Given the description of an element on the screen output the (x, y) to click on. 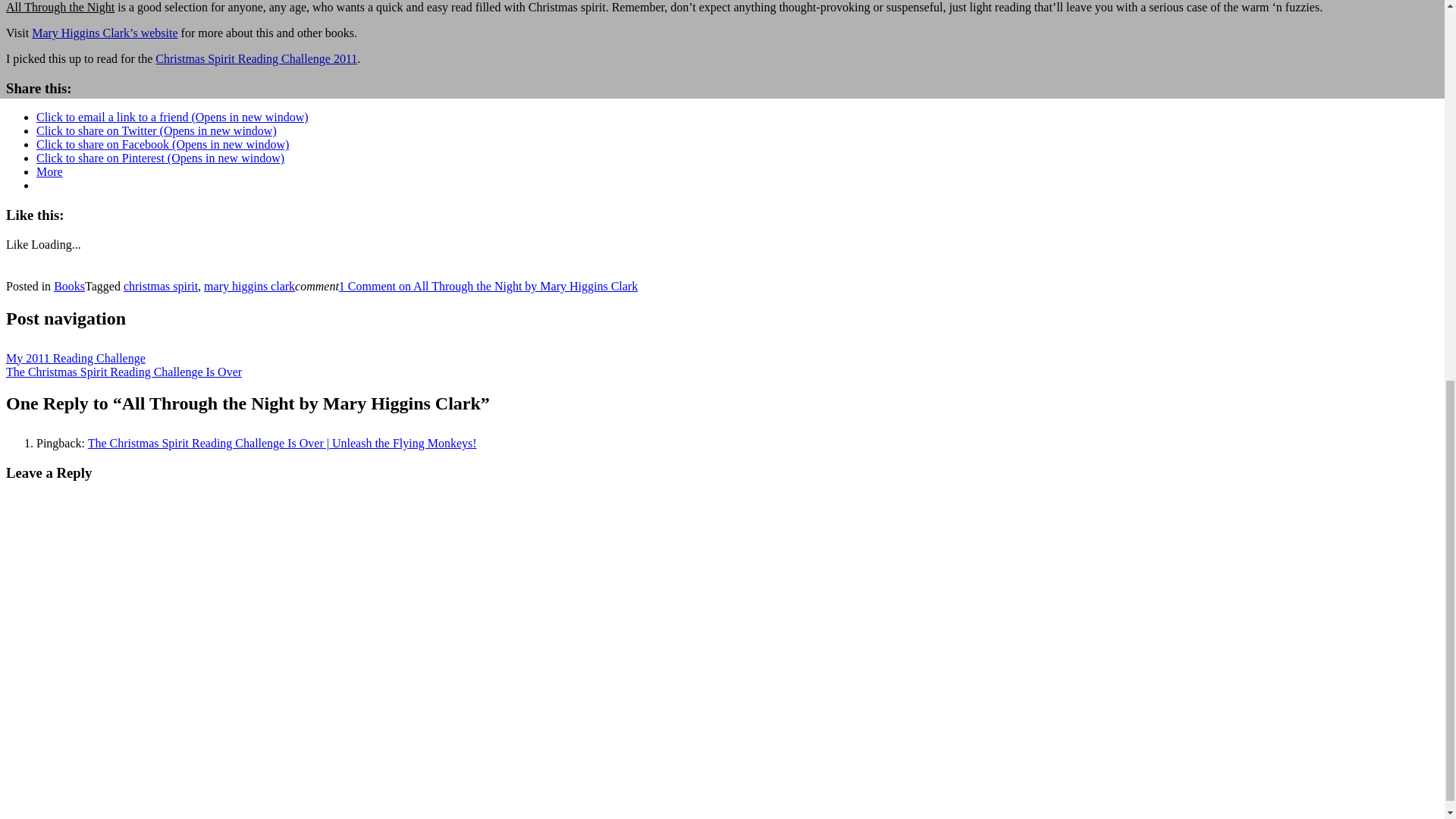
The Christmas Spirit Reading Challenge Is Over (123, 371)
Click to share on Pinterest (159, 157)
The Christmas Spirit Reading Challenge 2011 (255, 58)
christmas spirit (160, 286)
My 2011 Reading Challenge (75, 358)
Click to share on Twitter (156, 130)
mary higgins clark (249, 286)
Books (68, 286)
1 Comment on All Through the Night by Mary Higgins Clark (488, 286)
Mary Higgins Clark's Website (104, 32)
